Given the description of an element on the screen output the (x, y) to click on. 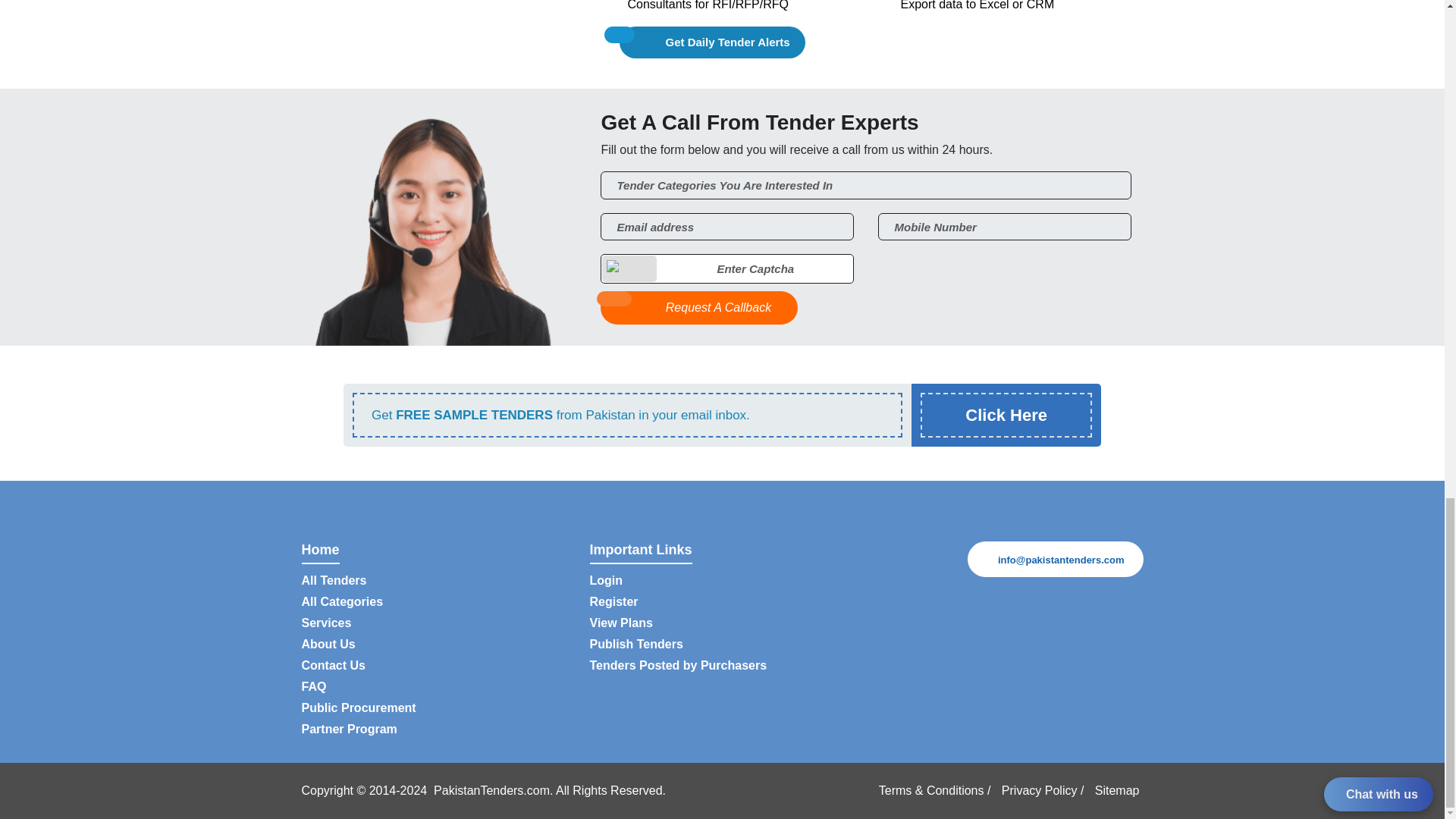
Request A Callback (698, 307)
Get Daily Tender Alerts (712, 42)
All Categories (342, 601)
Click Here (1006, 415)
Services (326, 622)
All Tenders (333, 580)
